Given the description of an element on the screen output the (x, y) to click on. 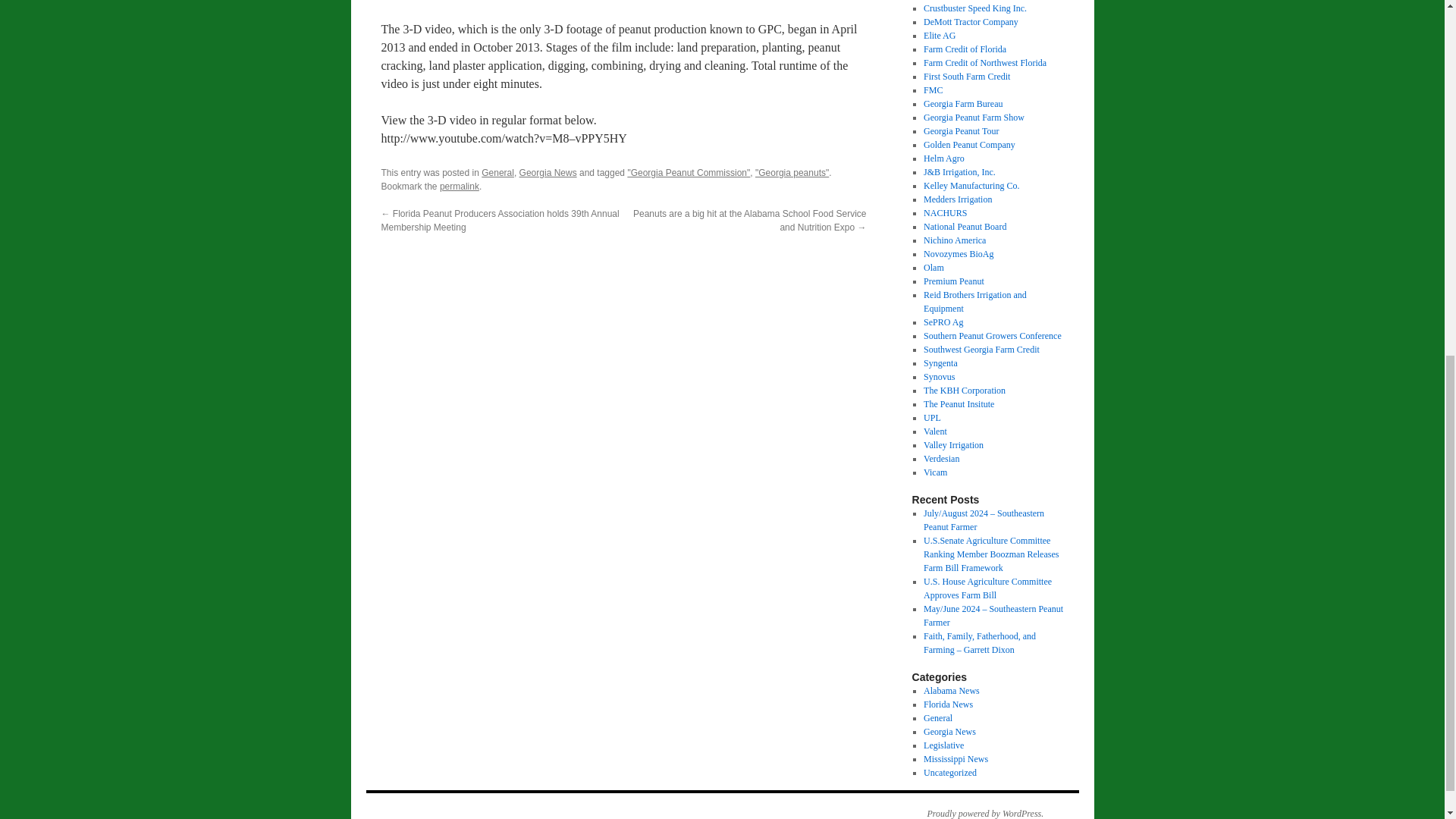
General (497, 172)
"Georgia peanuts" (791, 172)
permalink (459, 185)
Elite AG (939, 35)
DeMott Tractor Company (970, 21)
"Georgia Peanut Commission" (688, 172)
Georgia News (547, 172)
Crustbuster Speed King Inc. (974, 8)
